Given the description of an element on the screen output the (x, y) to click on. 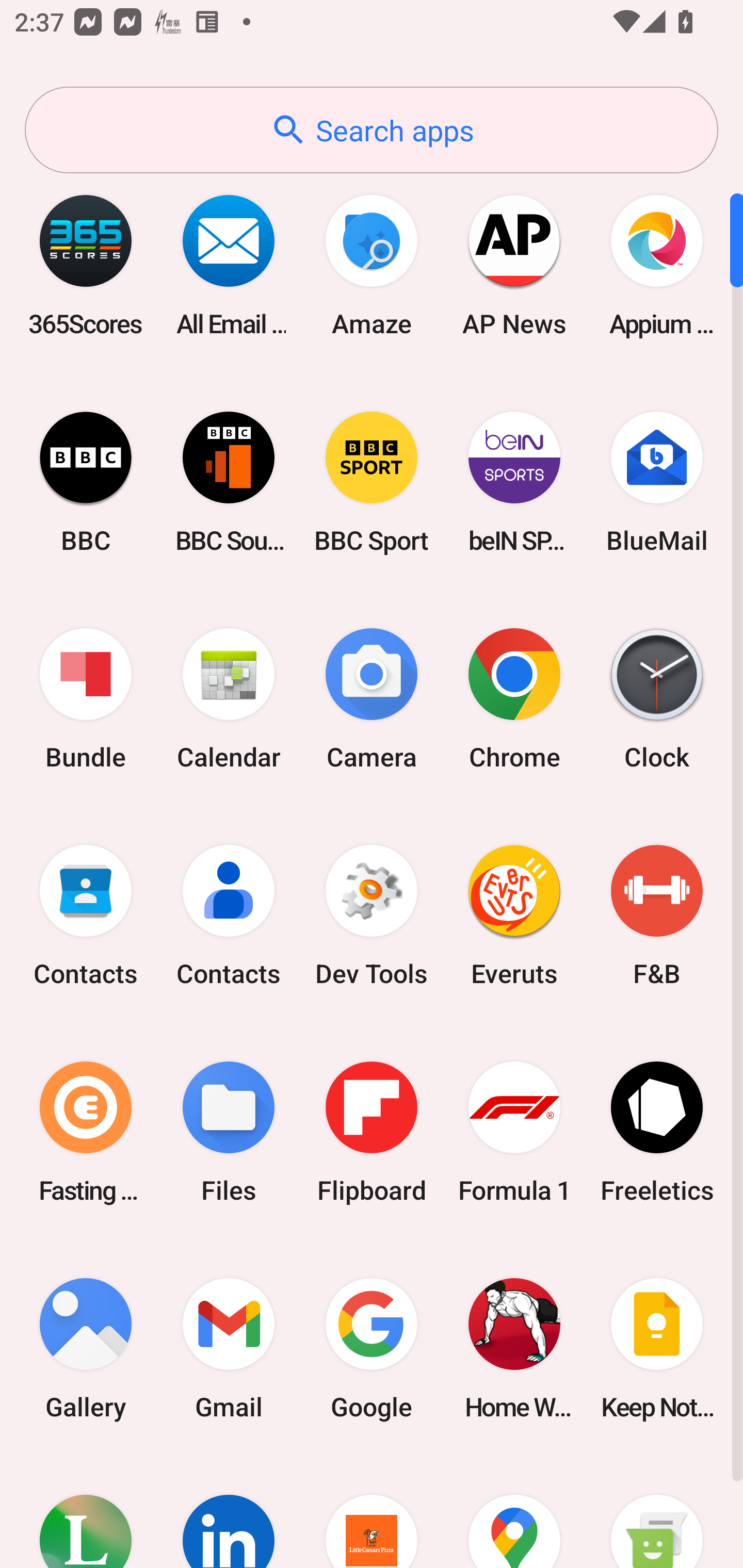
  Search apps (371, 130)
365Scores (85, 264)
All Email Connect (228, 264)
Amaze (371, 264)
AP News (514, 264)
Appium Settings (656, 264)
BBC (85, 482)
BBC Sounds (228, 482)
BBC Sport (371, 482)
beIN SPORTS (514, 482)
BlueMail (656, 482)
Bundle (85, 699)
Calendar (228, 699)
Camera (371, 699)
Chrome (514, 699)
Clock (656, 699)
Contacts (85, 915)
Contacts (228, 915)
Dev Tools (371, 915)
Everuts (514, 915)
F&B (656, 915)
Fasting Coach (85, 1131)
Files (228, 1131)
Flipboard (371, 1131)
Formula 1 (514, 1131)
Freeletics (656, 1131)
Gallery (85, 1348)
Gmail (228, 1348)
Google (371, 1348)
Home Workout (514, 1348)
Keep Notes (656, 1348)
